Given the description of an element on the screen output the (x, y) to click on. 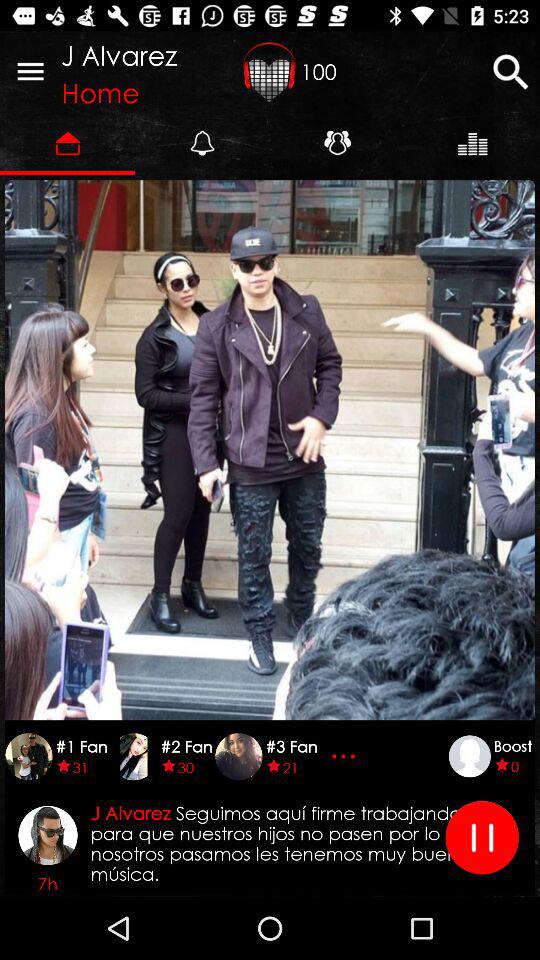
menu (30, 71)
